Given the description of an element on the screen output the (x, y) to click on. 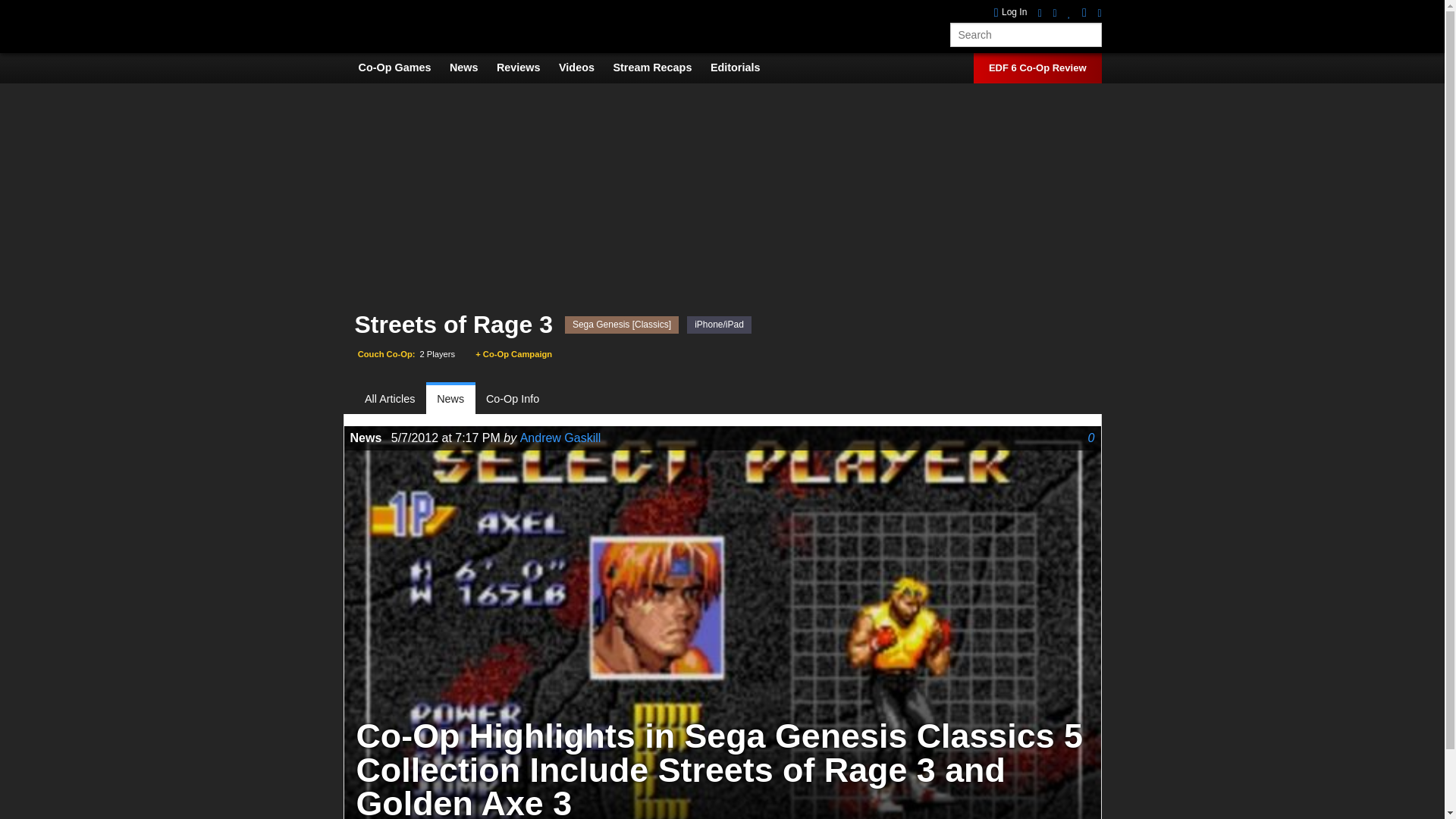
EDF 6 Co-Op Review (1037, 67)
Reviews (526, 67)
login (1010, 11)
Editorials (743, 67)
Videos (584, 67)
All Articles (395, 398)
News (451, 398)
Co-Op Info (513, 398)
Weekly Video Streams and VODs from Co-Optimus (659, 67)
 Log In (1010, 11)
Stream Recaps (659, 67)
Co-Op Games (401, 67)
News (471, 67)
Andrew Gaskill (560, 437)
